Given the description of an element on the screen output the (x, y) to click on. 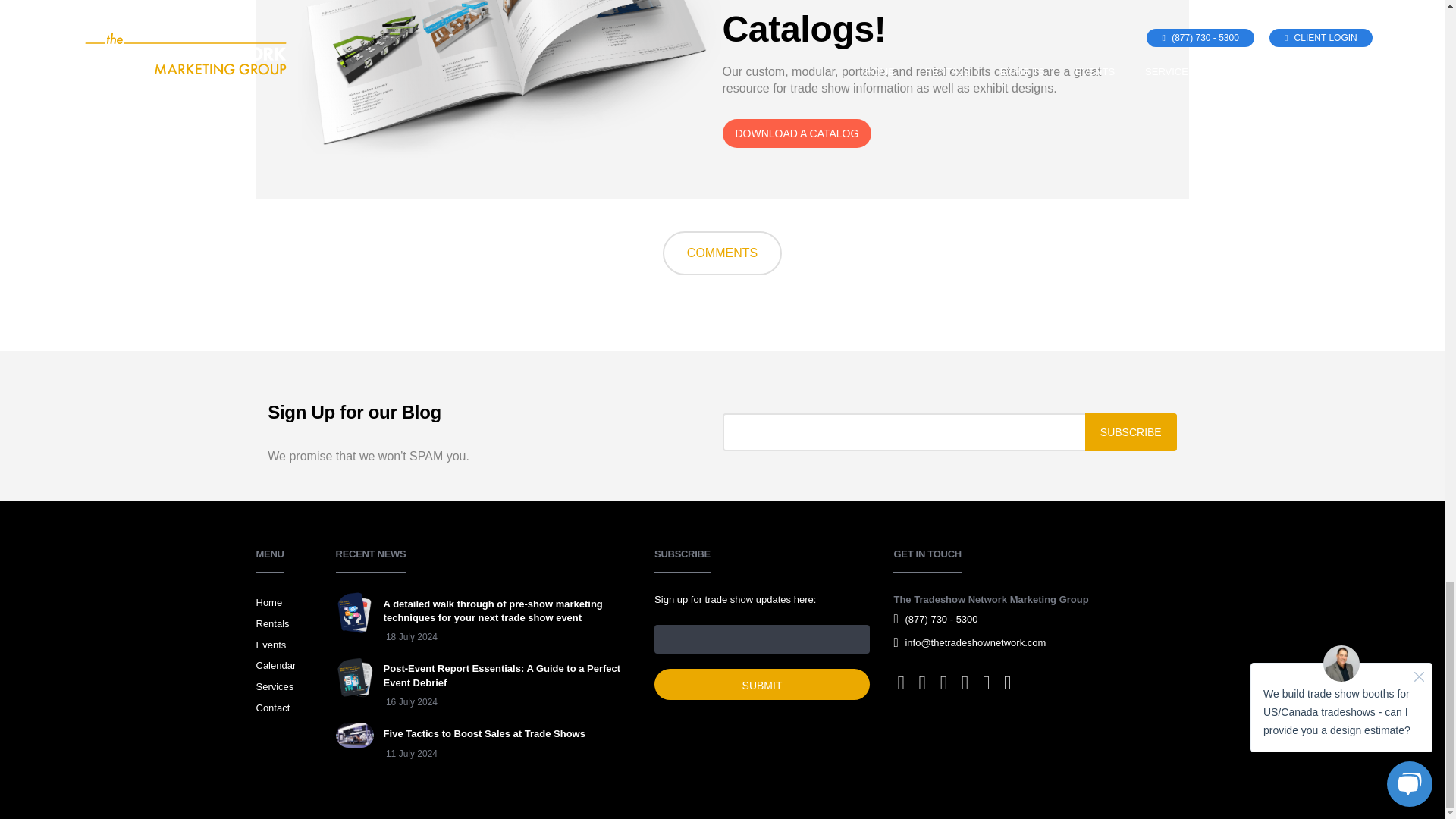
Services (460, 745)
Submit (284, 686)
Download A Catalog (761, 684)
Calendar (796, 133)
Contact (284, 665)
Submit (284, 708)
DOWNLOAD A CATALOG (761, 684)
CatalogMockup (796, 133)
Home (509, 79)
Rentals (284, 602)
Subscribe (284, 623)
Subscribe (1130, 432)
